Given the description of an element on the screen output the (x, y) to click on. 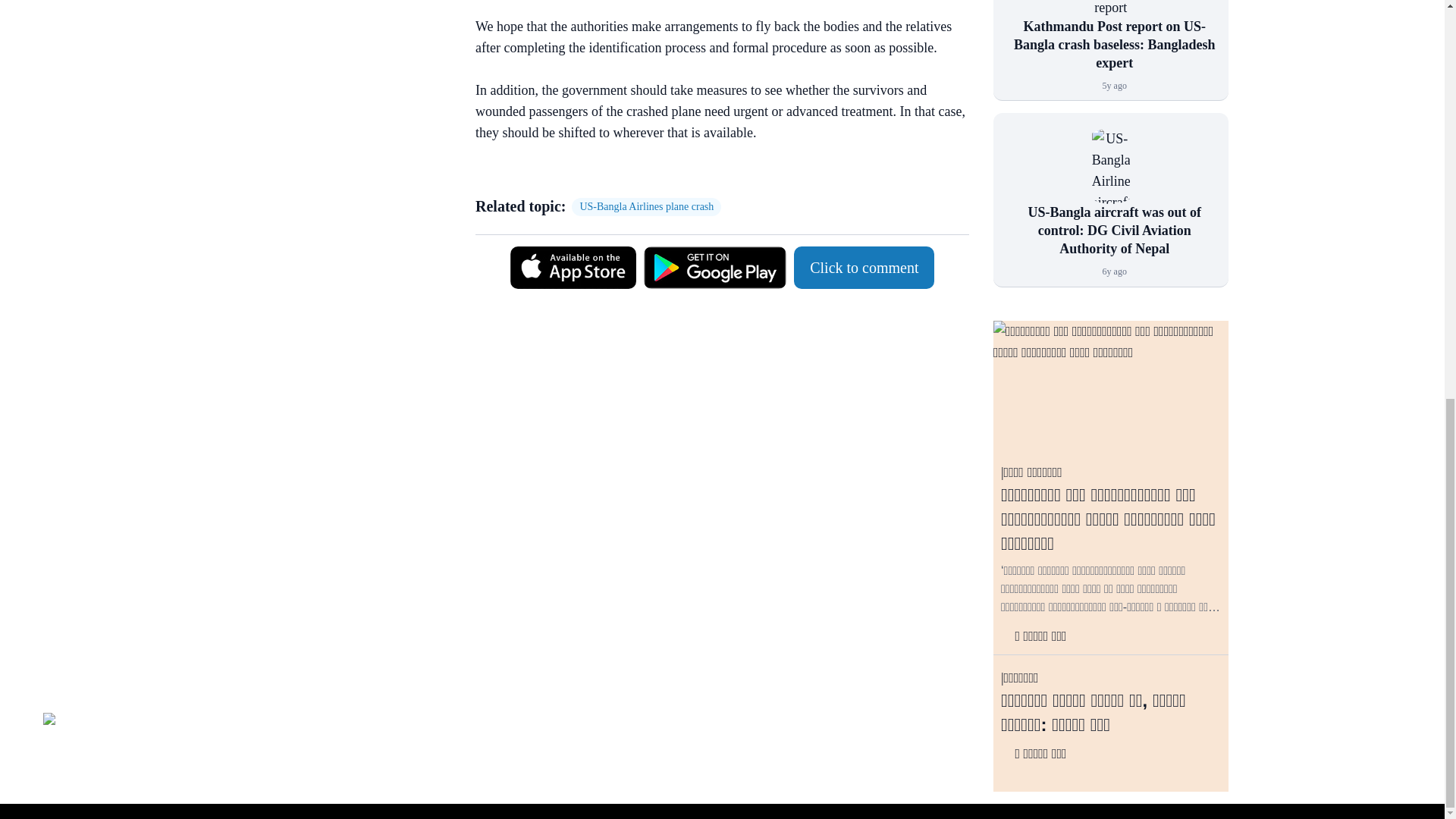
Kathmandu Post report on US-Bangla plane crash (1110, 9)
Kathmandu Post report on US-Bangla plane crash (1110, 9)
US-Bangla Airlines aircraft crash (1110, 165)
